Given the description of an element on the screen output the (x, y) to click on. 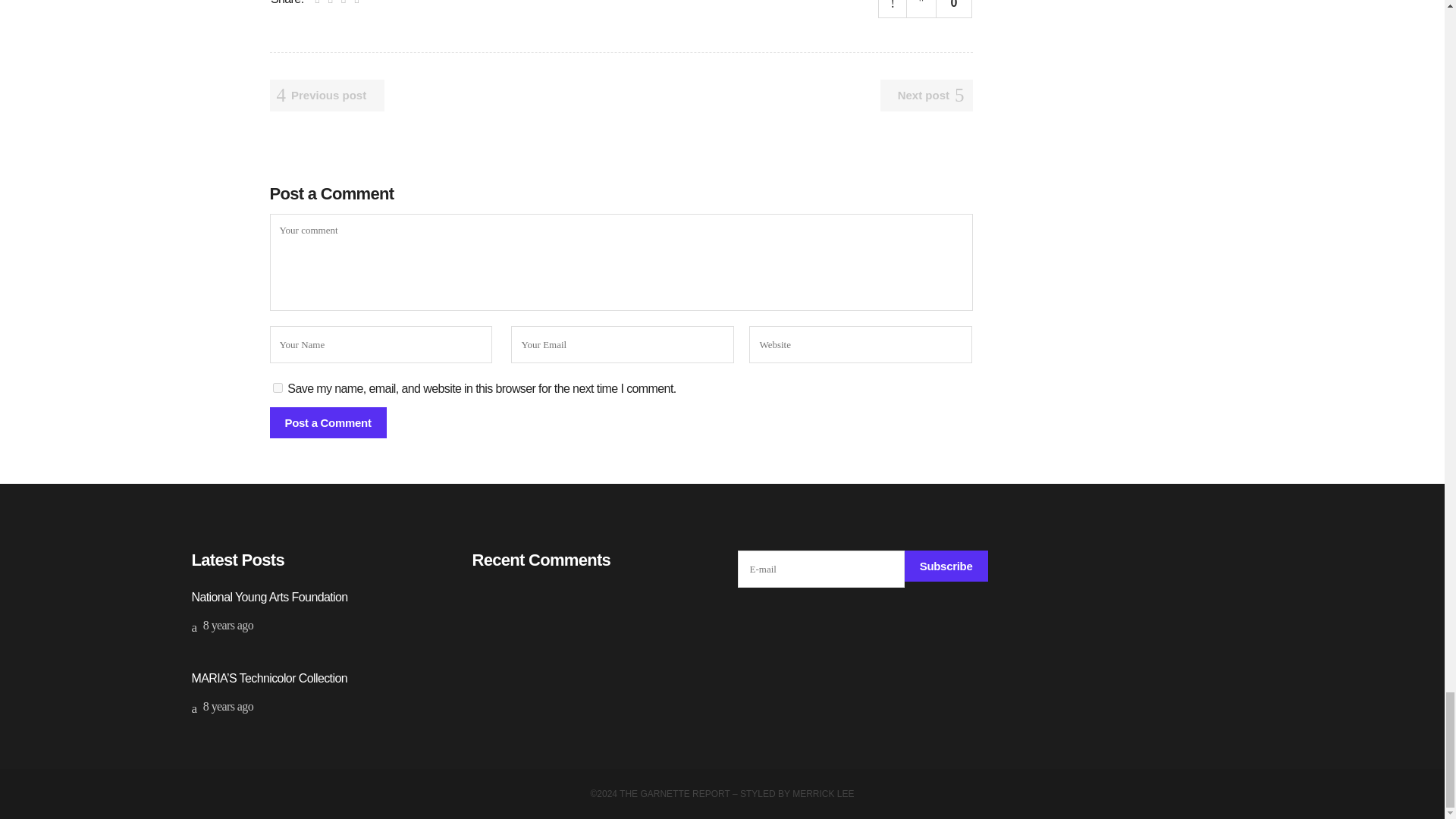
Post a Comment (328, 422)
yes (277, 388)
Subscribe (946, 565)
National Young Arts Foundation (268, 596)
